Given the description of an element on the screen output the (x, y) to click on. 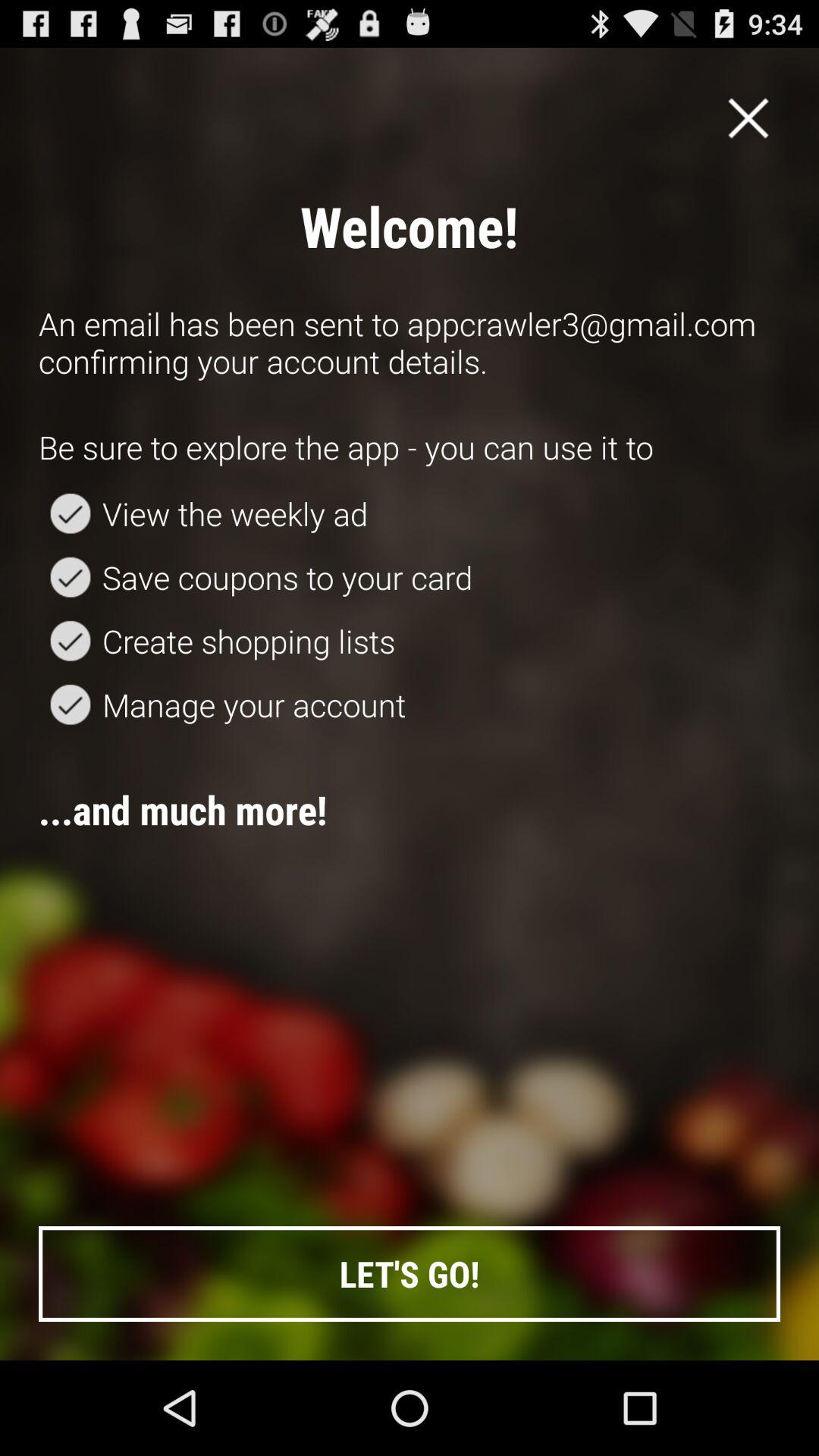
choose item below the ...and much more! icon (409, 1273)
